Given the description of an element on the screen output the (x, y) to click on. 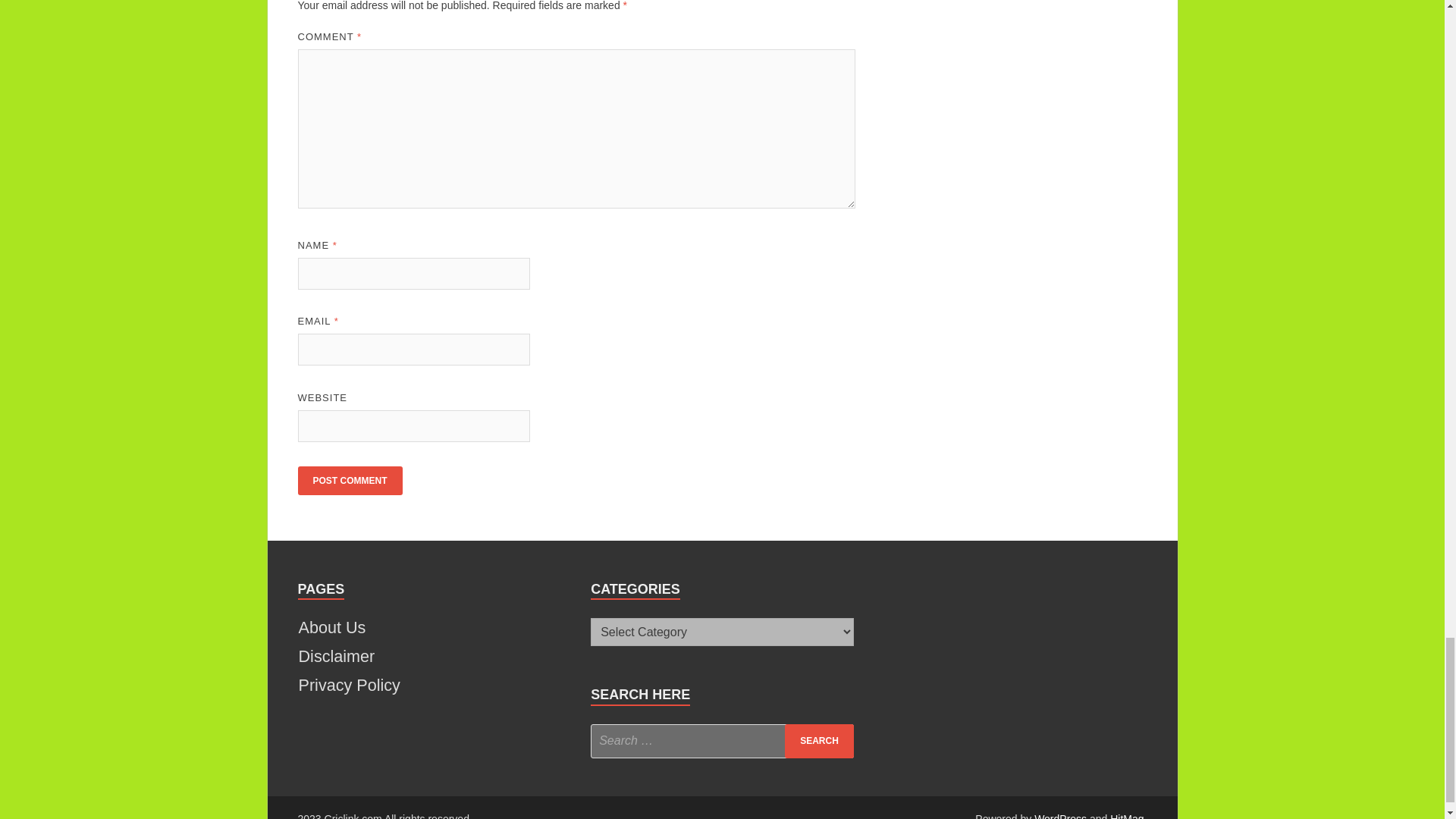
Post Comment (349, 480)
Search (818, 740)
Search (818, 740)
Post Comment (349, 480)
